Given the description of an element on the screen output the (x, y) to click on. 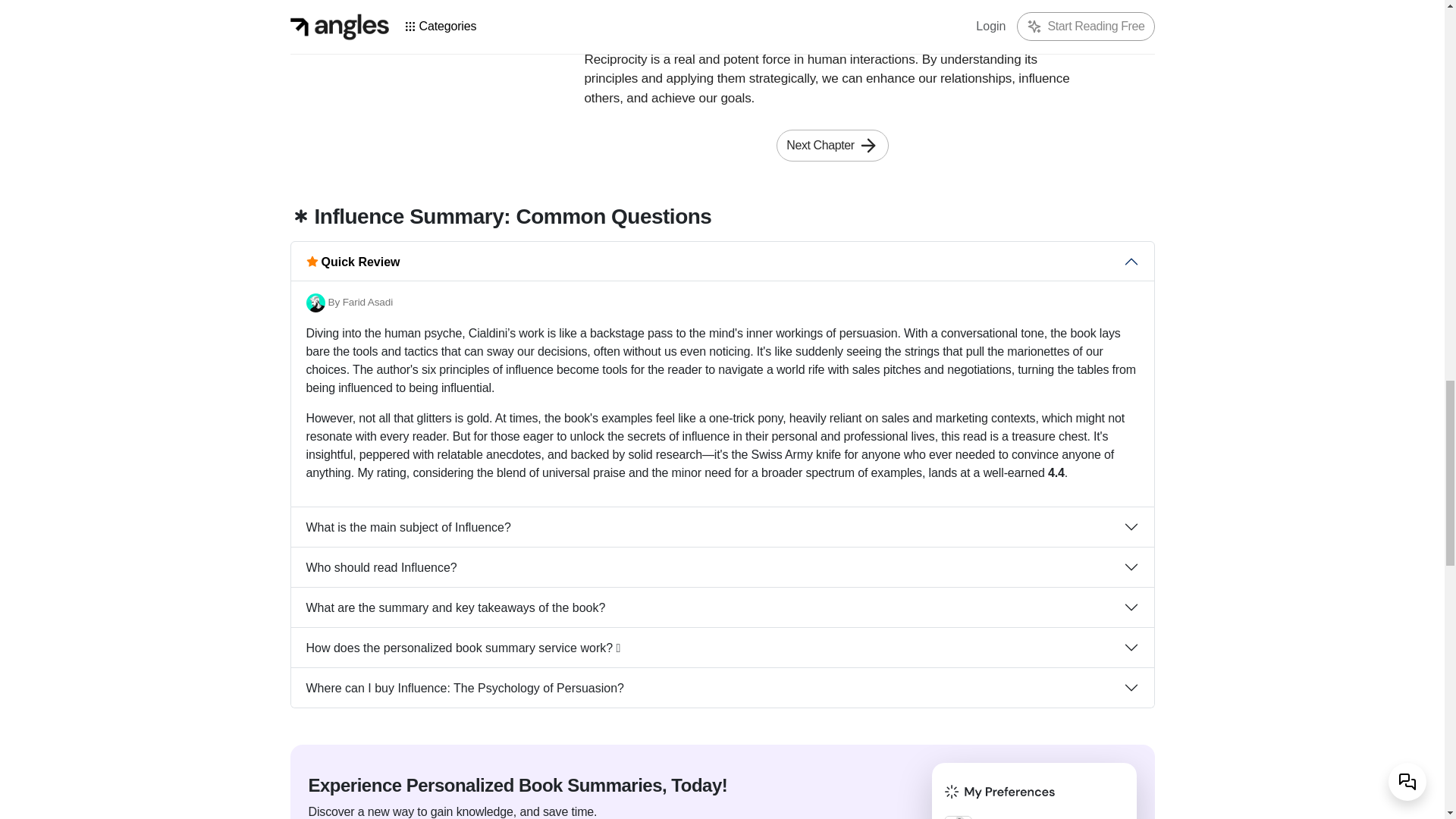
Quick Review (722, 261)
Next Chapter (832, 145)
What is the main subject of Influence? (722, 526)
Who should read Influence? (722, 567)
Where can I buy Influence: The Psychology of Persuasion? (722, 687)
What are the summary and key takeaways of the book? (722, 607)
